Given the description of an element on the screen output the (x, y) to click on. 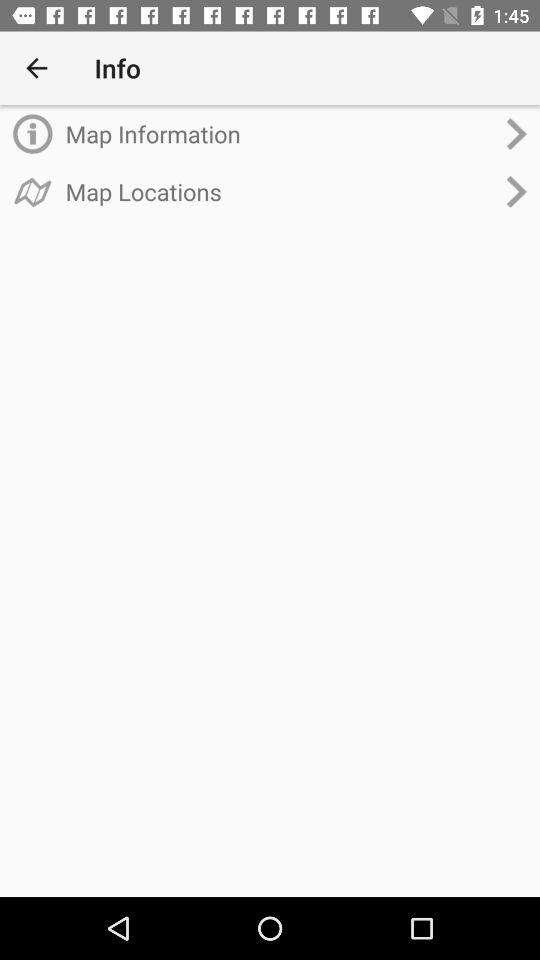
choose the item above the map locations icon (279, 134)
